Given the description of an element on the screen output the (x, y) to click on. 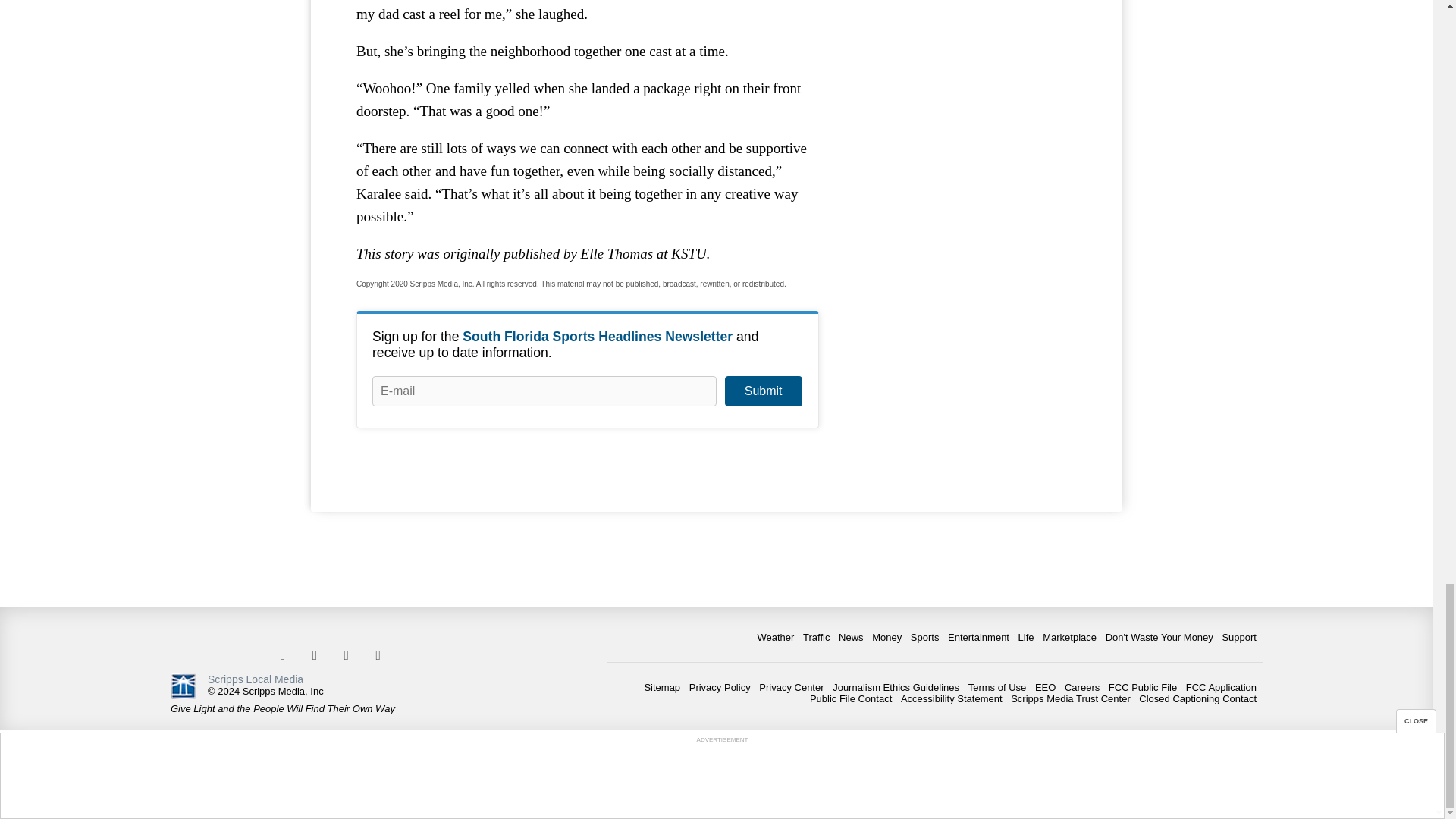
Submit (763, 390)
